Given the description of an element on the screen output the (x, y) to click on. 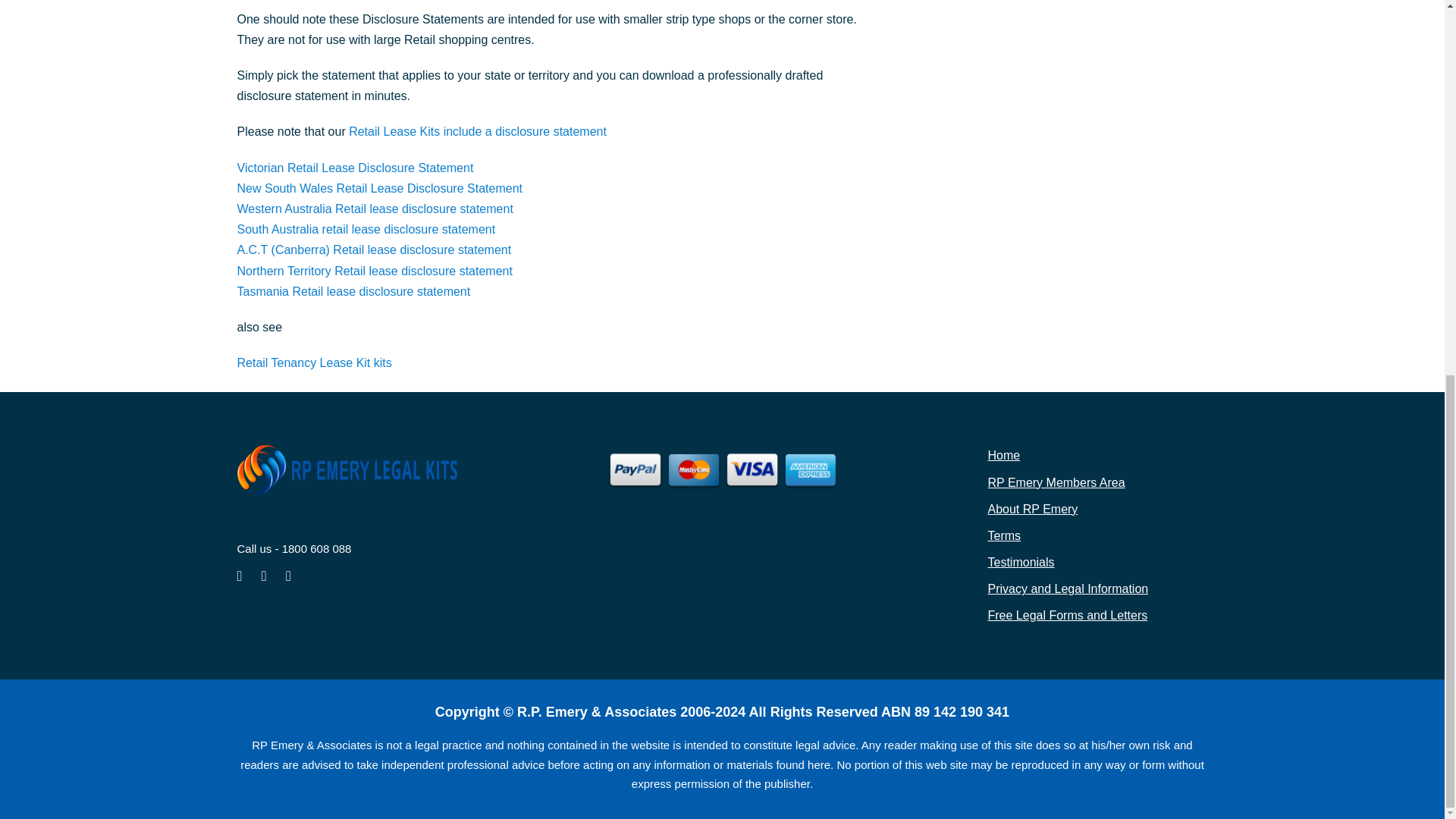
Home (1003, 454)
Retail Tenancy Lease Kit kits (313, 362)
RP Emery Members Area (1055, 481)
Western Australia Retail lease disclosure statement (373, 208)
About RP Emery (1032, 508)
Northern Territory Retail lease disclosure statement (373, 270)
Retail Lease Kits include a disclosure statement (478, 131)
South Australia retail lease disclosure statement (365, 228)
Testimonials (1020, 562)
Victorian Retail Lease Disclosure Statement (354, 167)
New South Wales Retail Lease Disclosure Statement (378, 187)
Terms (1003, 535)
Tasmania Retail lease disclosure statement (352, 291)
